Given the description of an element on the screen output the (x, y) to click on. 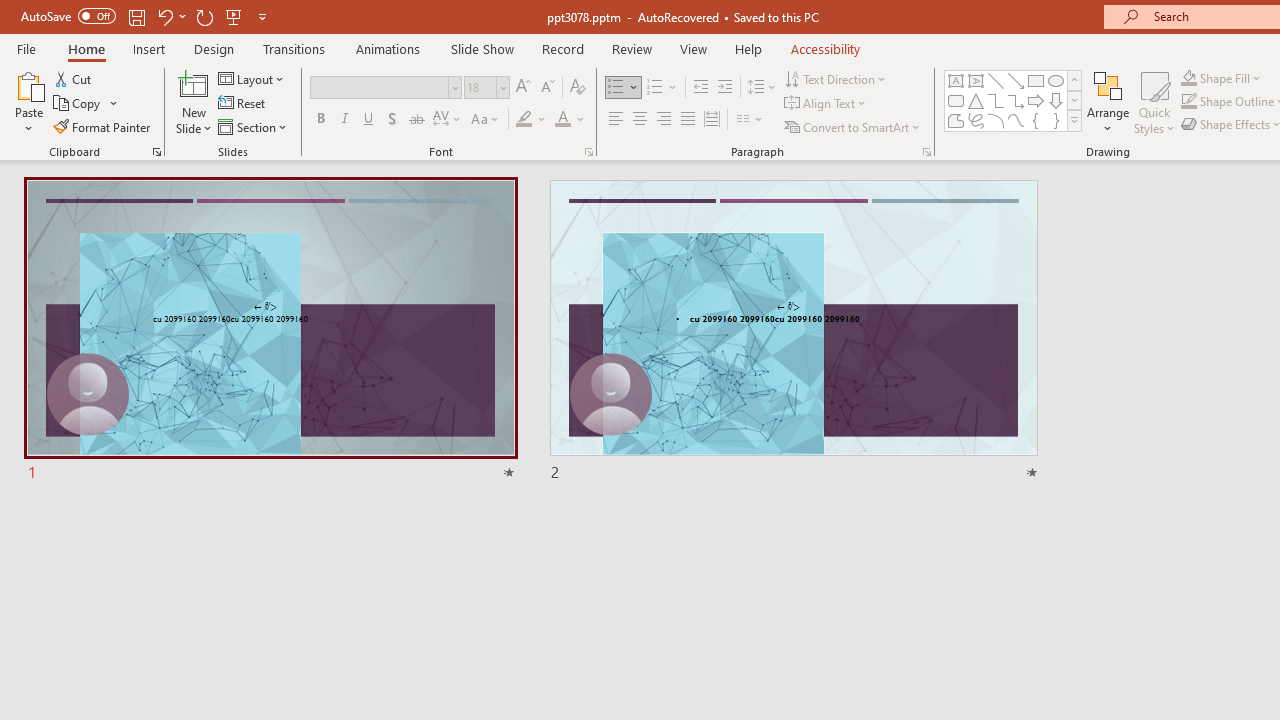
Shape Outline Green, Accent 1 (1188, 101)
